Given the description of an element on the screen output the (x, y) to click on. 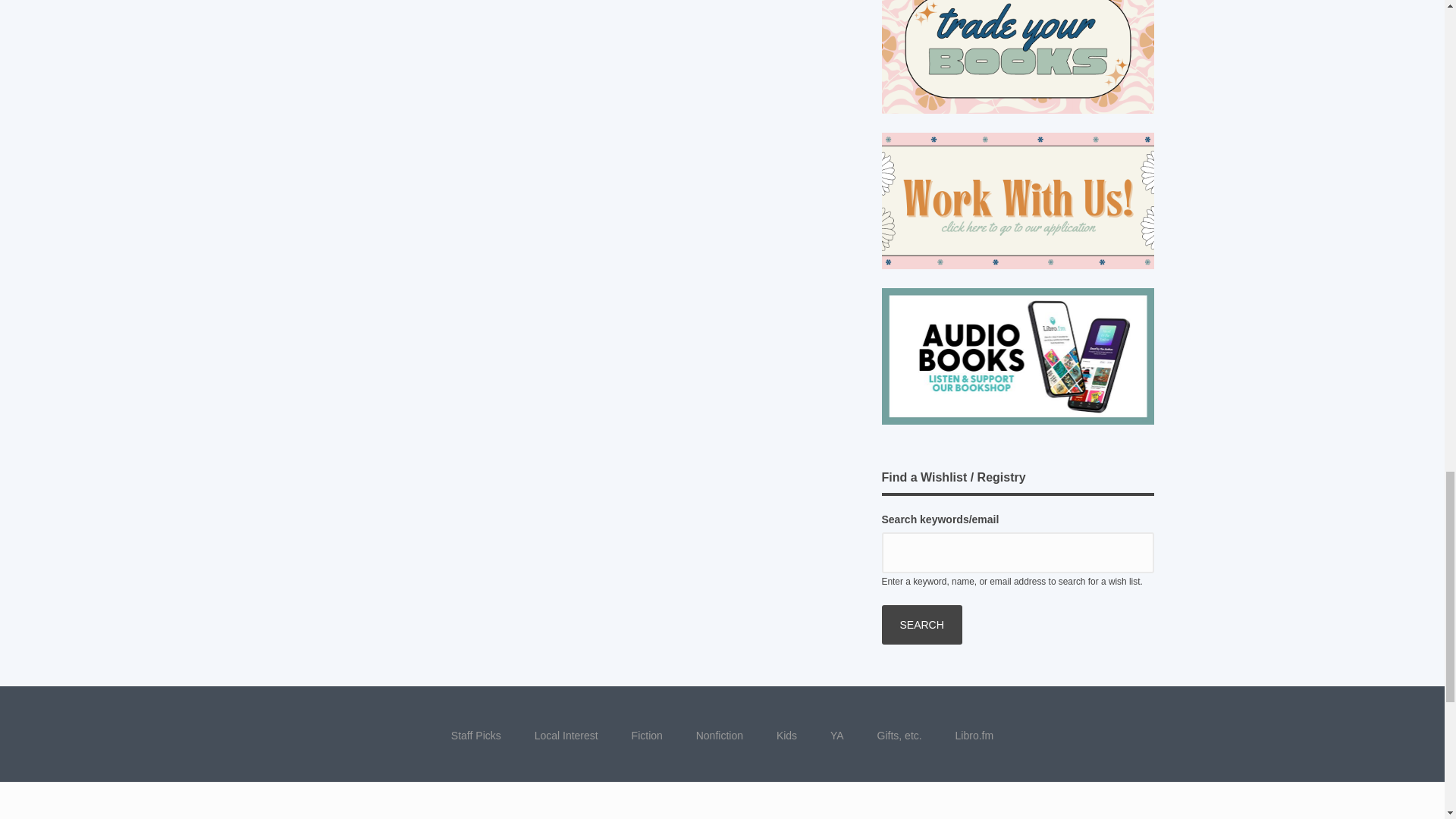
Search (920, 624)
